Given the description of an element on the screen output the (x, y) to click on. 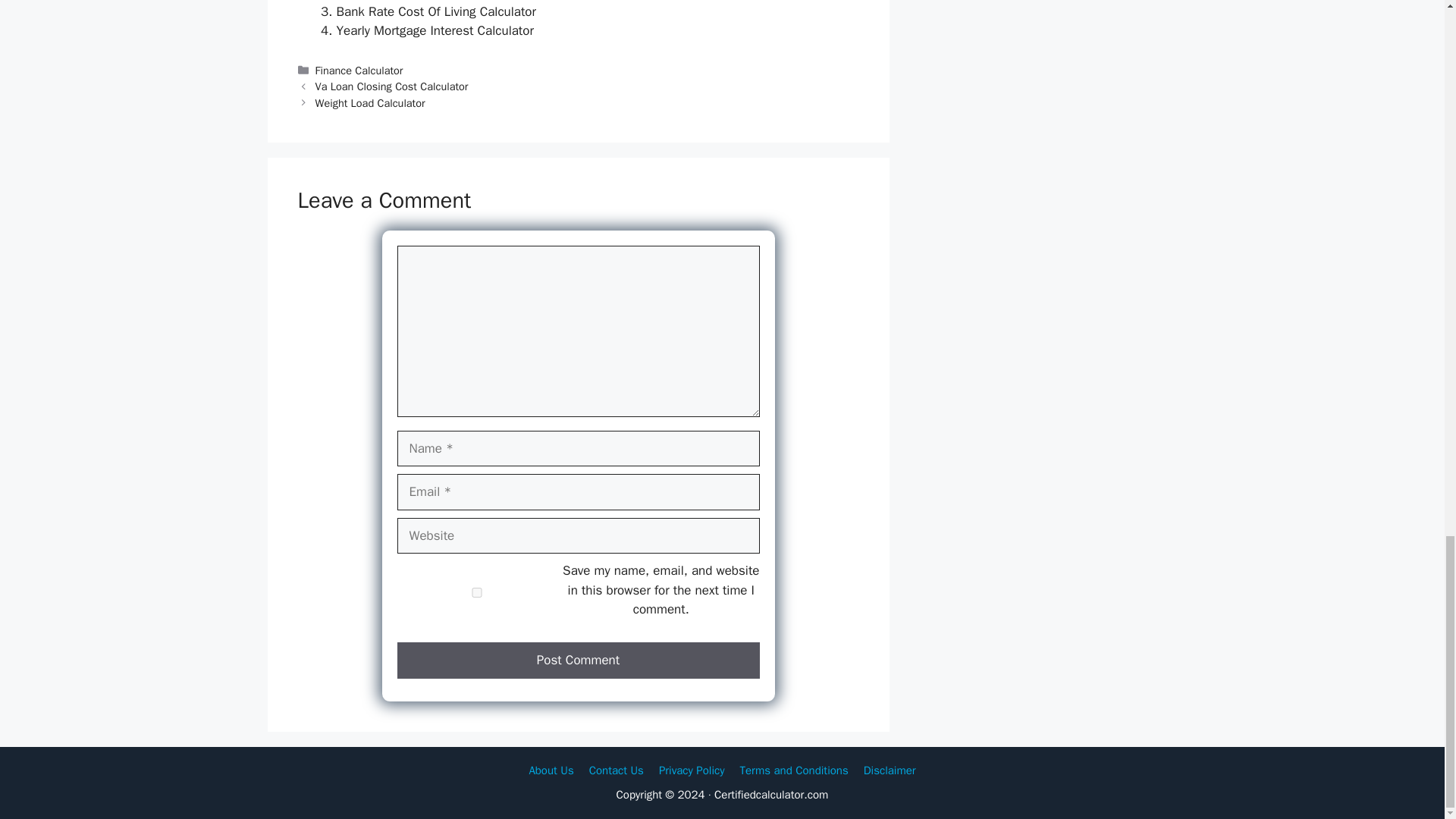
Weight Load Calculator (370, 102)
Privacy Policy (692, 770)
Yearly Mortgage Interest Calculator (435, 30)
Contact Us (616, 770)
Post Comment (578, 660)
Va Loan Closing Cost Calculator (391, 86)
Post Comment (578, 660)
About Us (550, 770)
Yearly Mortgage Interest Calculator (435, 30)
yes (476, 592)
Bank Rate Cost Of Living Calculator (435, 11)
Bank Rate Cost Of Living Calculator (435, 11)
Finance Calculator (359, 69)
